Given the description of an element on the screen output the (x, y) to click on. 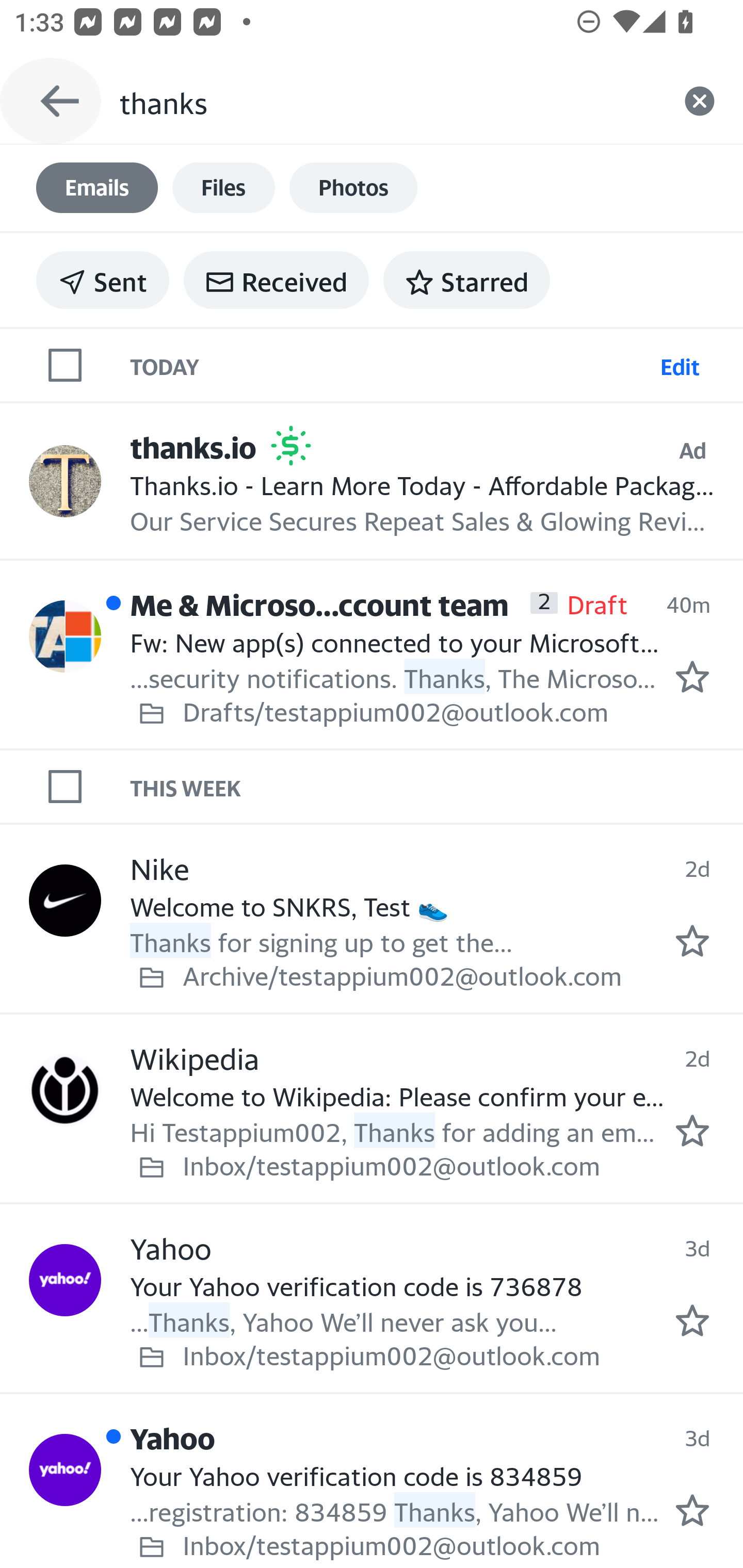
Back (50, 101)
thanks (387, 101)
Clear (699, 101)
Emails (96, 188)
Files (223, 188)
Photos (353, 188)
Sent (102, 279)
Received (276, 279)
Starred (466, 279)
TODAY (391, 364)
Edit Select emails (679, 364)
Sponsored (290, 445)
Ad (692, 449)
Profile
Me & Microsoft account team (64, 636)
Mark as starred. (692, 676)
THIS WEEK (436, 786)
Profile
Nike (64, 899)
Mark as starred. (692, 940)
Profile
Wikipedia (64, 1089)
Mark as starred. (692, 1131)
Profile
Yahoo (64, 1279)
Mark as starred. (692, 1321)
Profile
Yahoo (64, 1469)
Mark as starred. (692, 1510)
